Given the description of an element on the screen output the (x, y) to click on. 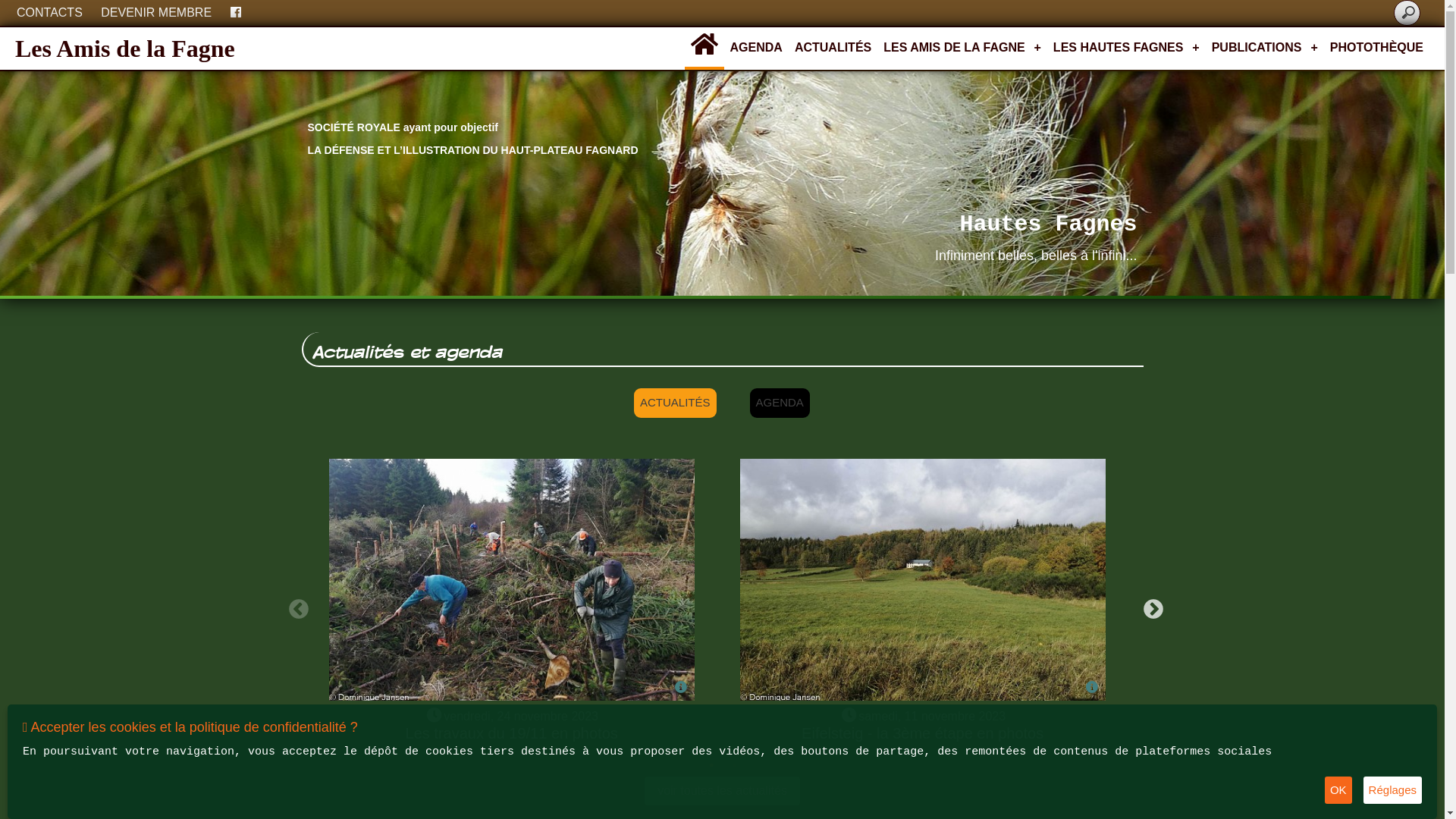
DEVENIR MEMBRE Element type: text (155, 12)
Les Amis de la Fagne Element type: text (125, 48)
AGENDA Element type: text (756, 47)
LES AMIS DE LA FAGNE  + Element type: text (962, 47)
vendredi, 24 novembre 2023 Element type: text (521, 715)
LES HAUTES FAGNES  + Element type: text (1126, 47)
Next Element type: text (1149, 605)
2 Element type: text (733, 764)
OK Element type: text (1338, 790)
1 Element type: text (710, 764)
AGENDA Element type: text (779, 402)
Les travaux du 19/11 en photos Element type: text (511, 732)
samedi, 11 novembre 2023 Element type: text (932, 715)
PUBLICATIONS  + Element type: text (1264, 47)
CONTACTS Element type: text (49, 12)
Previous Element type: text (294, 605)
